Given the description of an element on the screen output the (x, y) to click on. 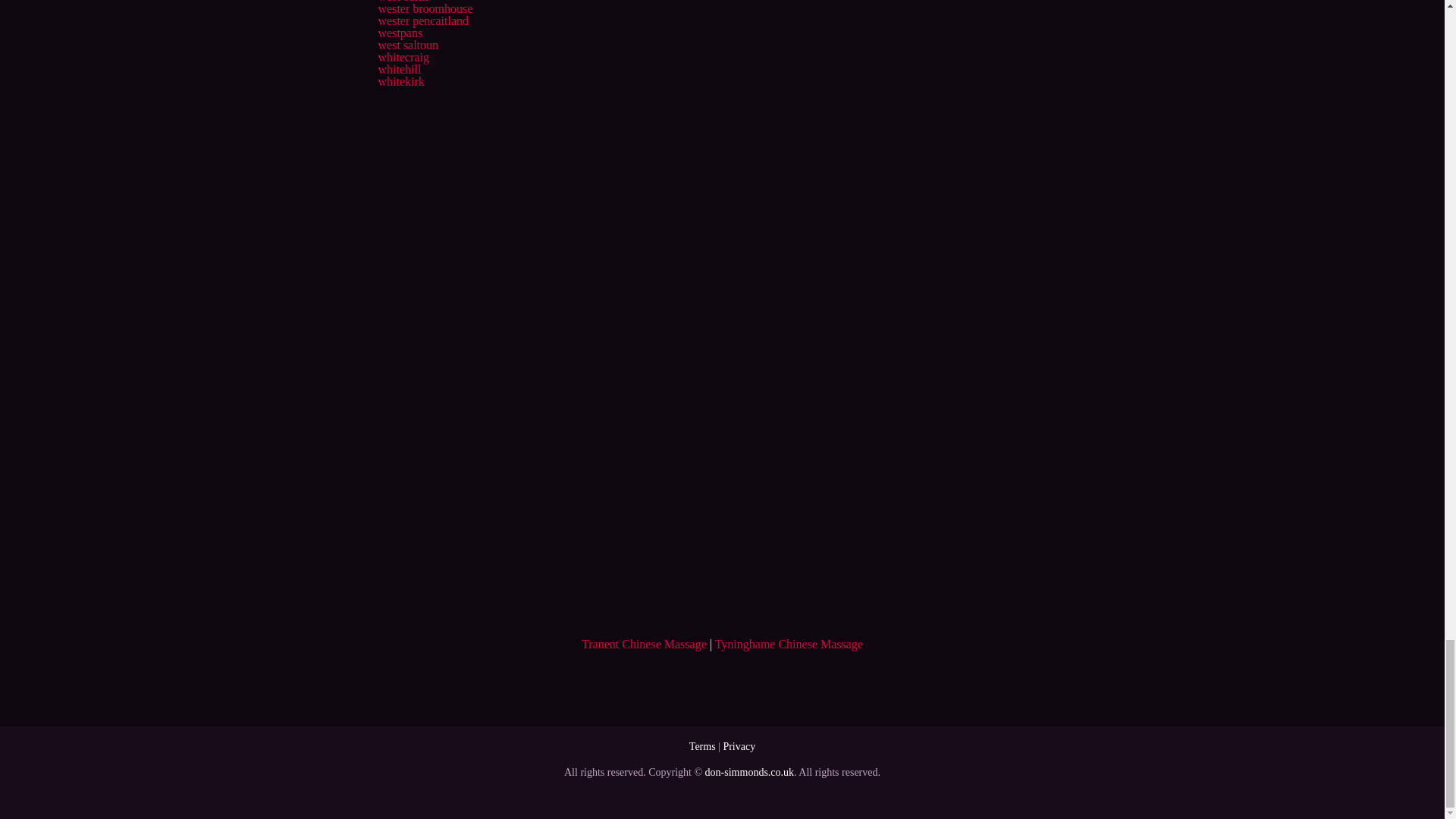
Privacy (738, 746)
west barns (403, 1)
westpans (399, 32)
Tyninghame Chinese Massage (788, 644)
wester pencaitland (422, 20)
Privacy (738, 746)
don-simmonds.co.uk (748, 772)
Terms (702, 746)
west saltoun (407, 44)
whitekirk (400, 81)
